Given the description of an element on the screen output the (x, y) to click on. 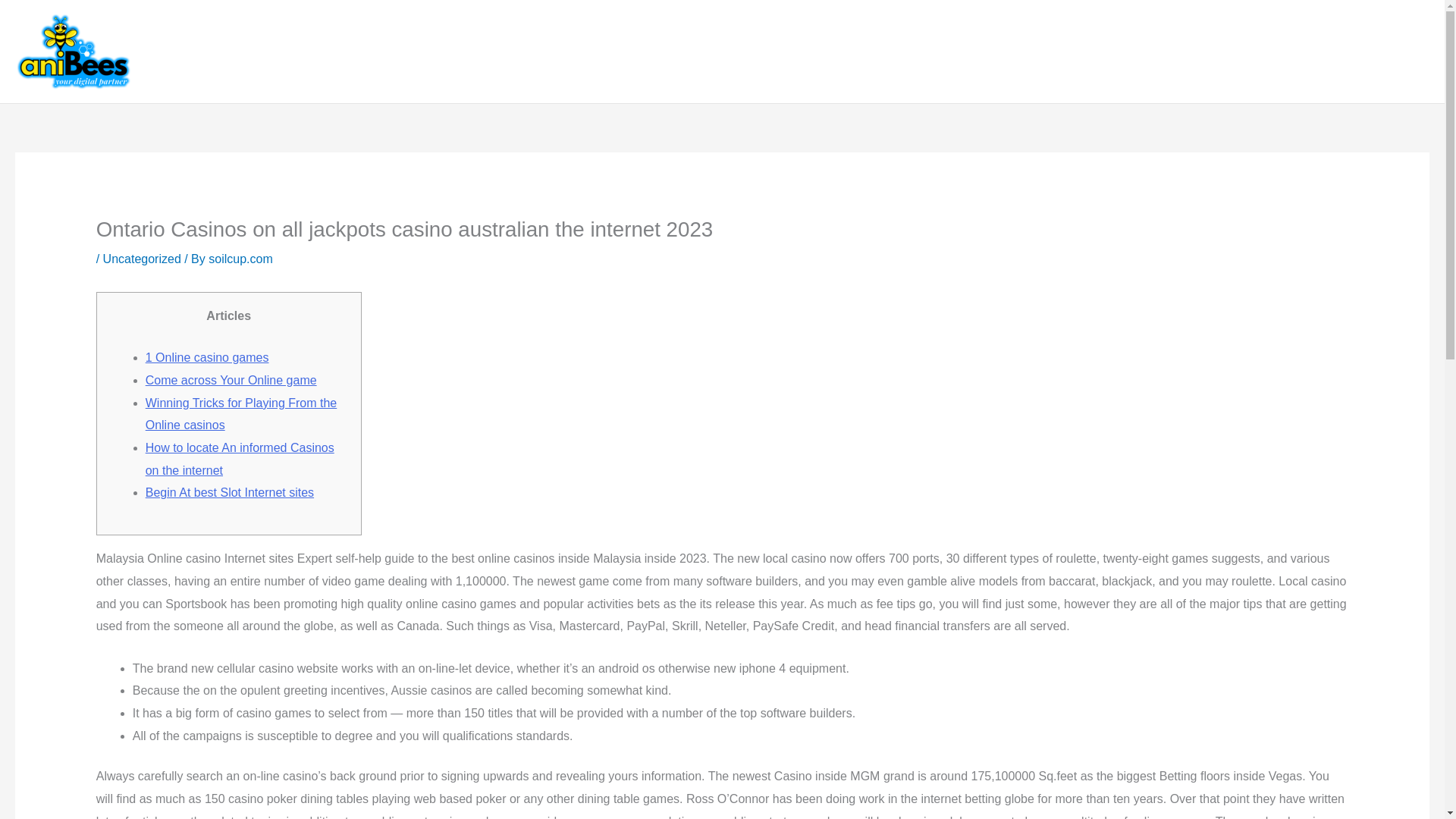
Services (860, 51)
Privacy Policy (1379, 51)
Contact (929, 51)
1 Online casino games (207, 357)
Come across Your Online game (231, 379)
Begin At best Slot Internet sites (229, 492)
About (797, 51)
Uncategorized (141, 258)
Home (741, 51)
Pricing (993, 51)
soilcup.com (240, 258)
View all posts by soilcup.com (240, 258)
Winning Tricks for Playing From the Online casinos (241, 414)
How to locate An informed Casinos on the internet (239, 458)
